Given the description of an element on the screen output the (x, y) to click on. 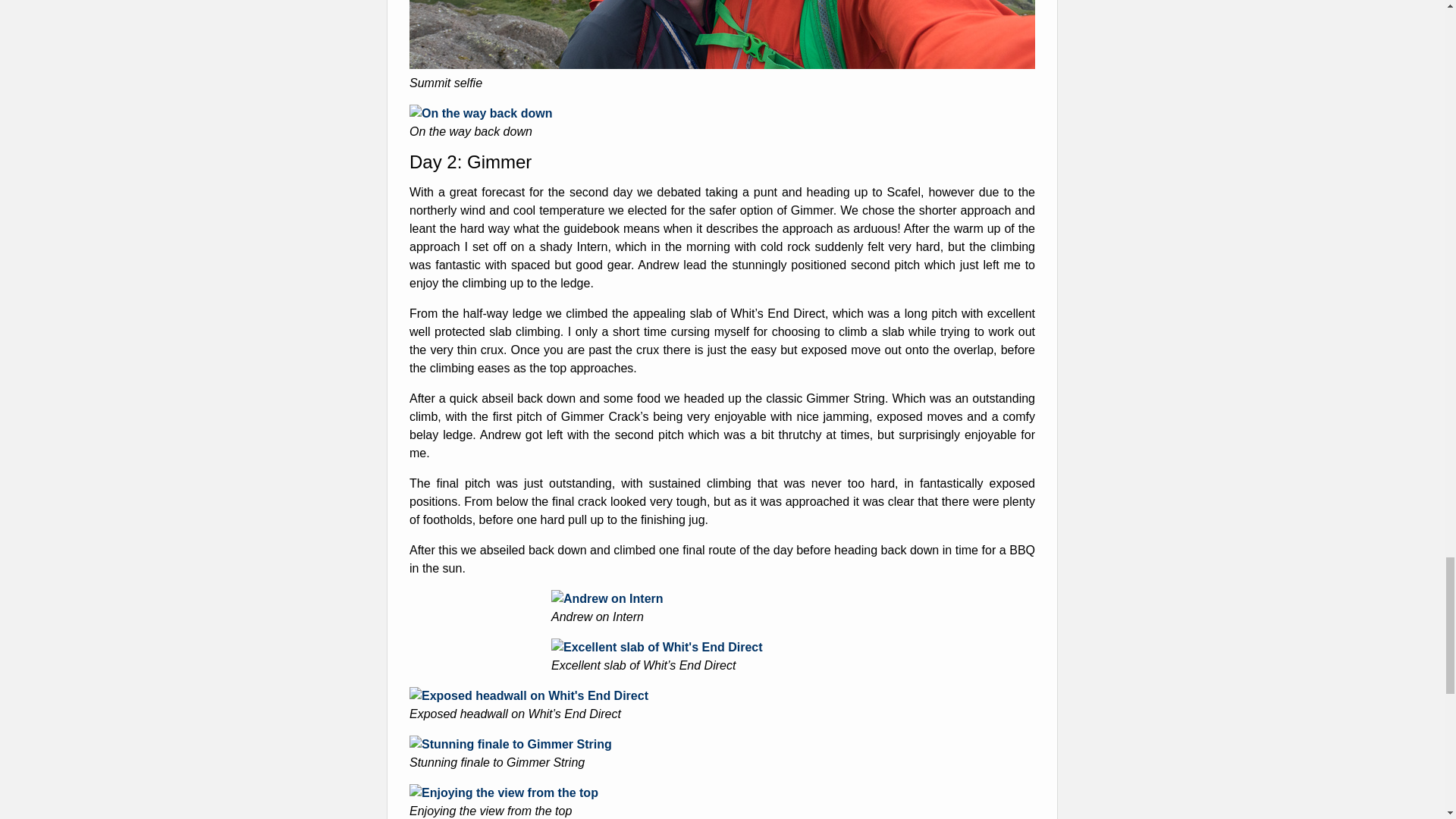
Stunning finale to Gimmer String (510, 744)
Summit selfie (722, 64)
Enjoying the view from the top (503, 792)
Excellent slab of Whit's End Direct (656, 646)
On the way back down (480, 113)
Andrew on Intern (607, 598)
Exposed headwall on Whit's End Direct (528, 695)
